Given the description of an element on the screen output the (x, y) to click on. 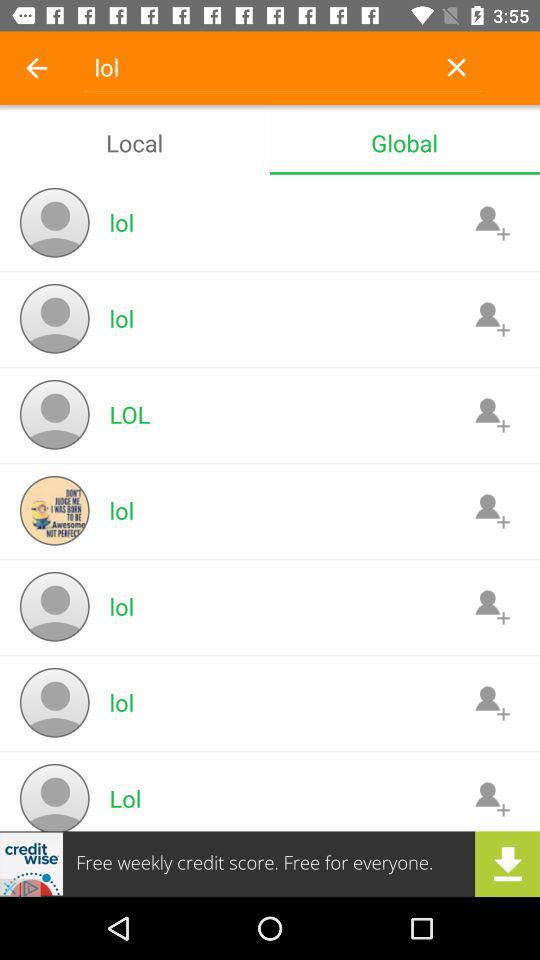
go to add (492, 222)
